Given the description of an element on the screen output the (x, y) to click on. 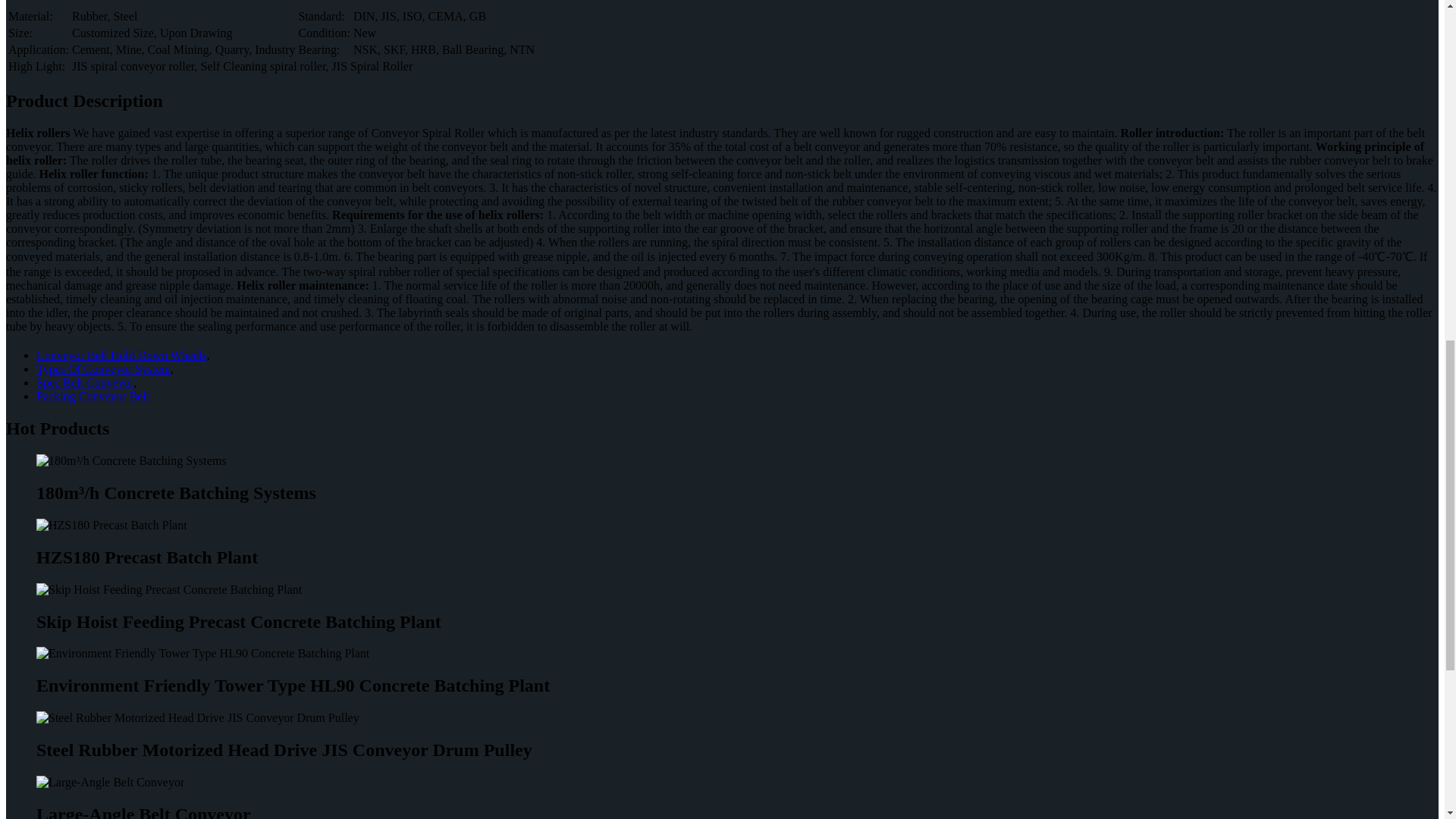
Conveyor Belt Hold Down Wheels (121, 354)
Spec Belt Conveyor (84, 382)
Types Of Conveyor System (103, 368)
Packing Conveyor Belt (92, 395)
